Given the description of an element on the screen output the (x, y) to click on. 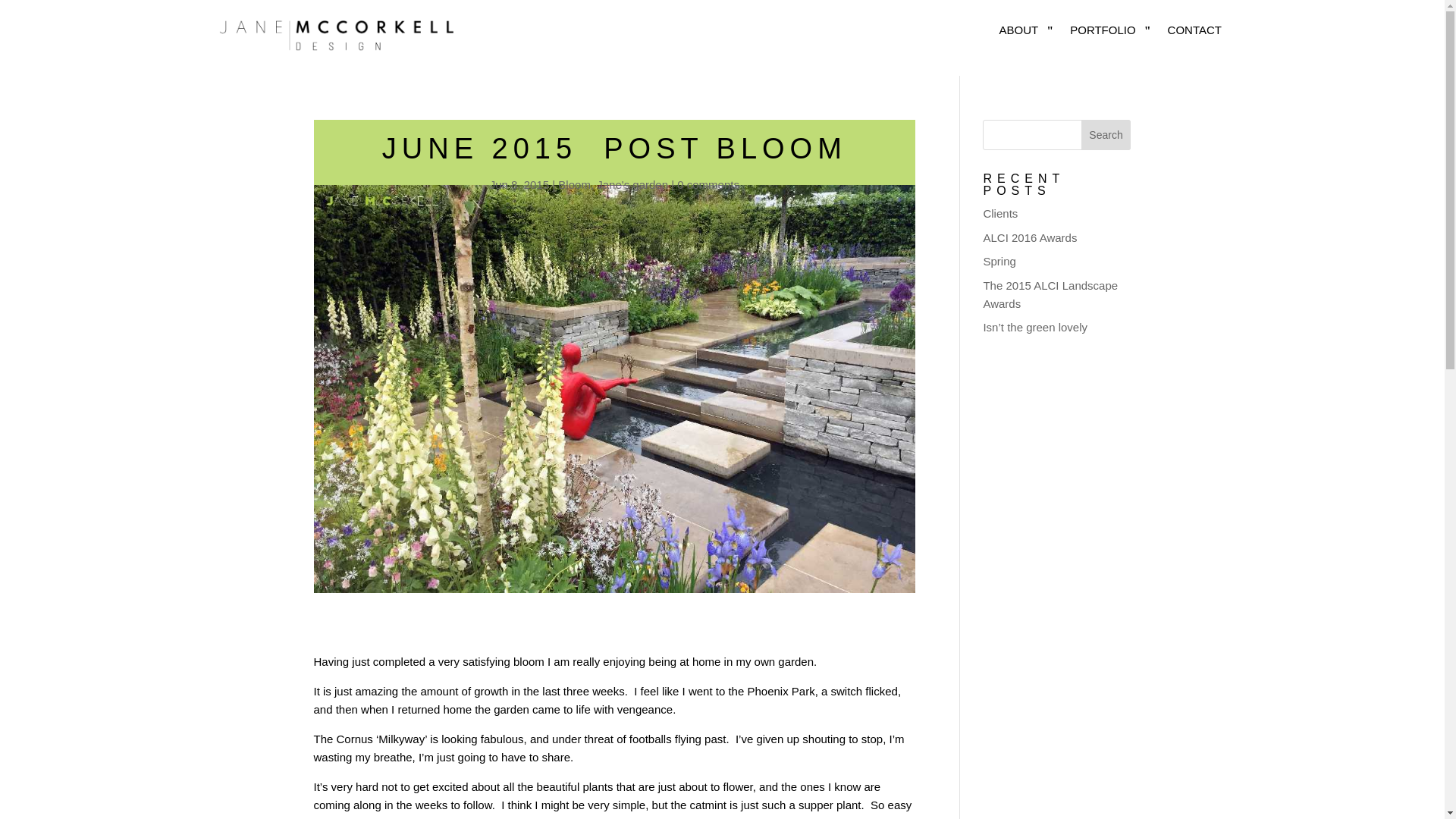
ALCI 2016 Awards (1029, 236)
CONTACT (1196, 29)
0 comments (708, 184)
Search (1106, 134)
CONTACT (1196, 35)
PORTFOLIO (1110, 35)
Jane's garden (632, 184)
Clients (999, 213)
Search (1106, 134)
Spring (998, 260)
